Given the description of an element on the screen output the (x, y) to click on. 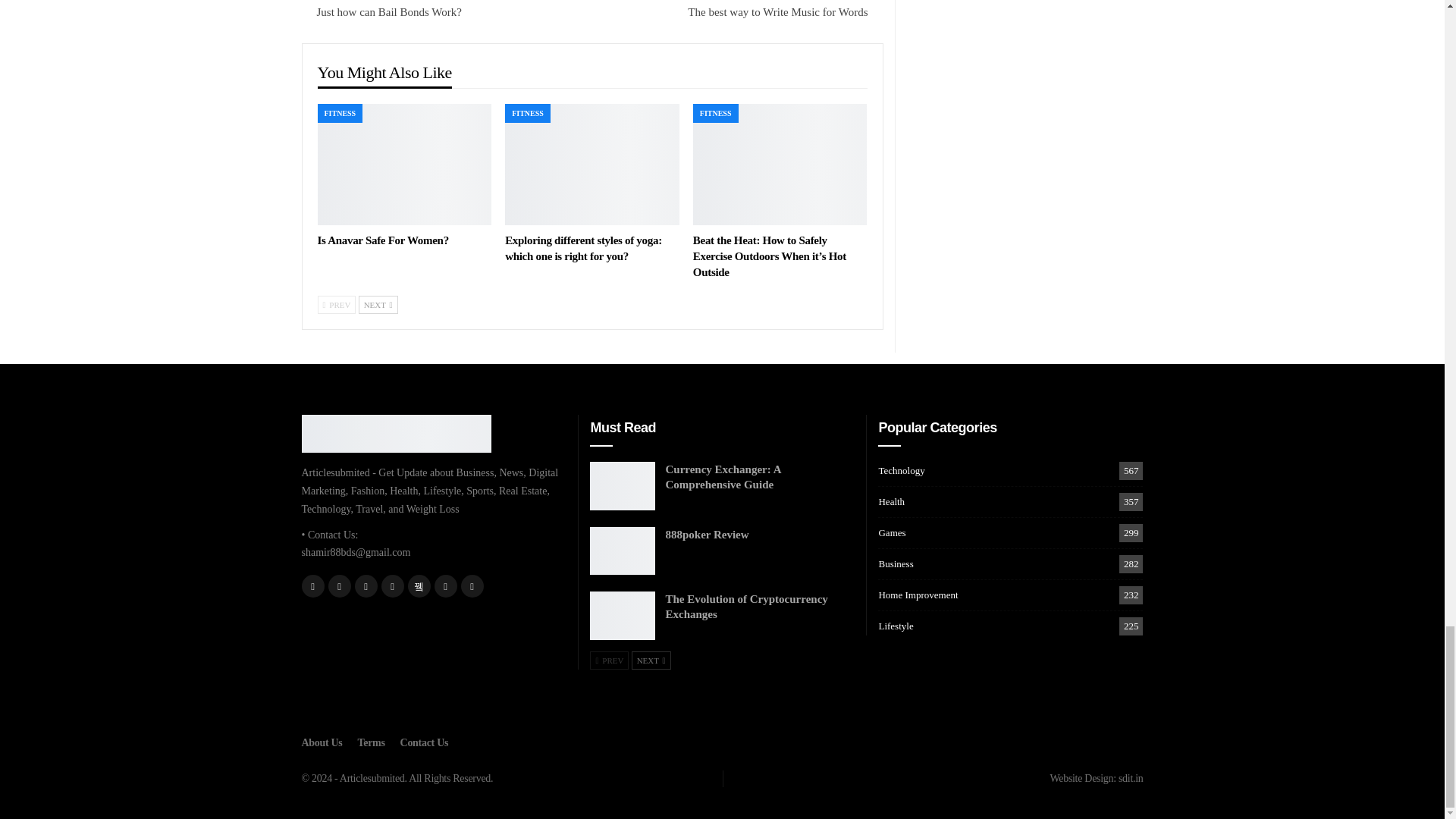
Is Anavar Safe For Women? (404, 165)
Previous (336, 304)
Is Anavar Safe For Women? (382, 240)
